Given the description of an element on the screen output the (x, y) to click on. 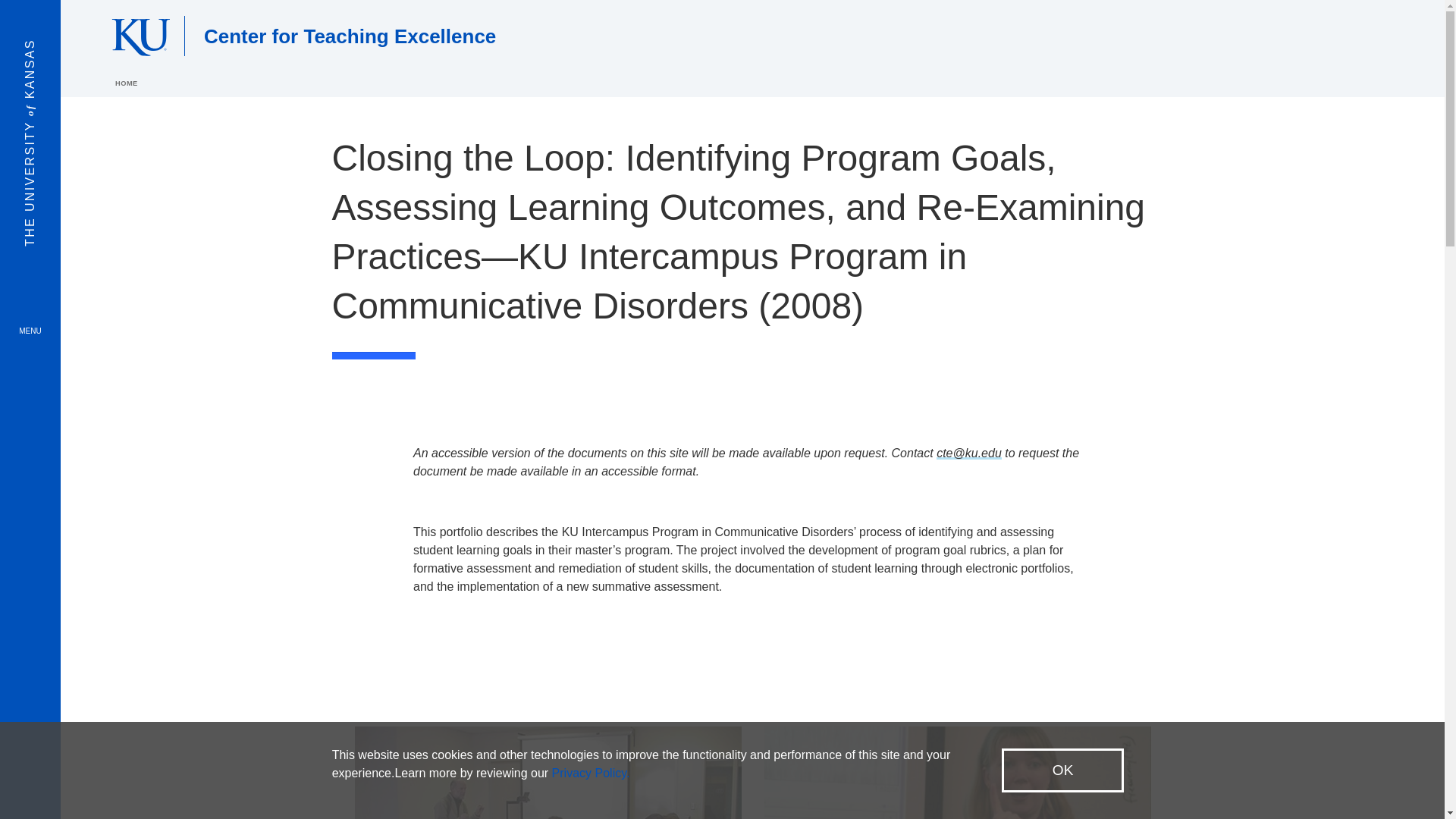
OK (1062, 770)
Privacy Policy. (590, 772)
